Given the description of an element on the screen output the (x, y) to click on. 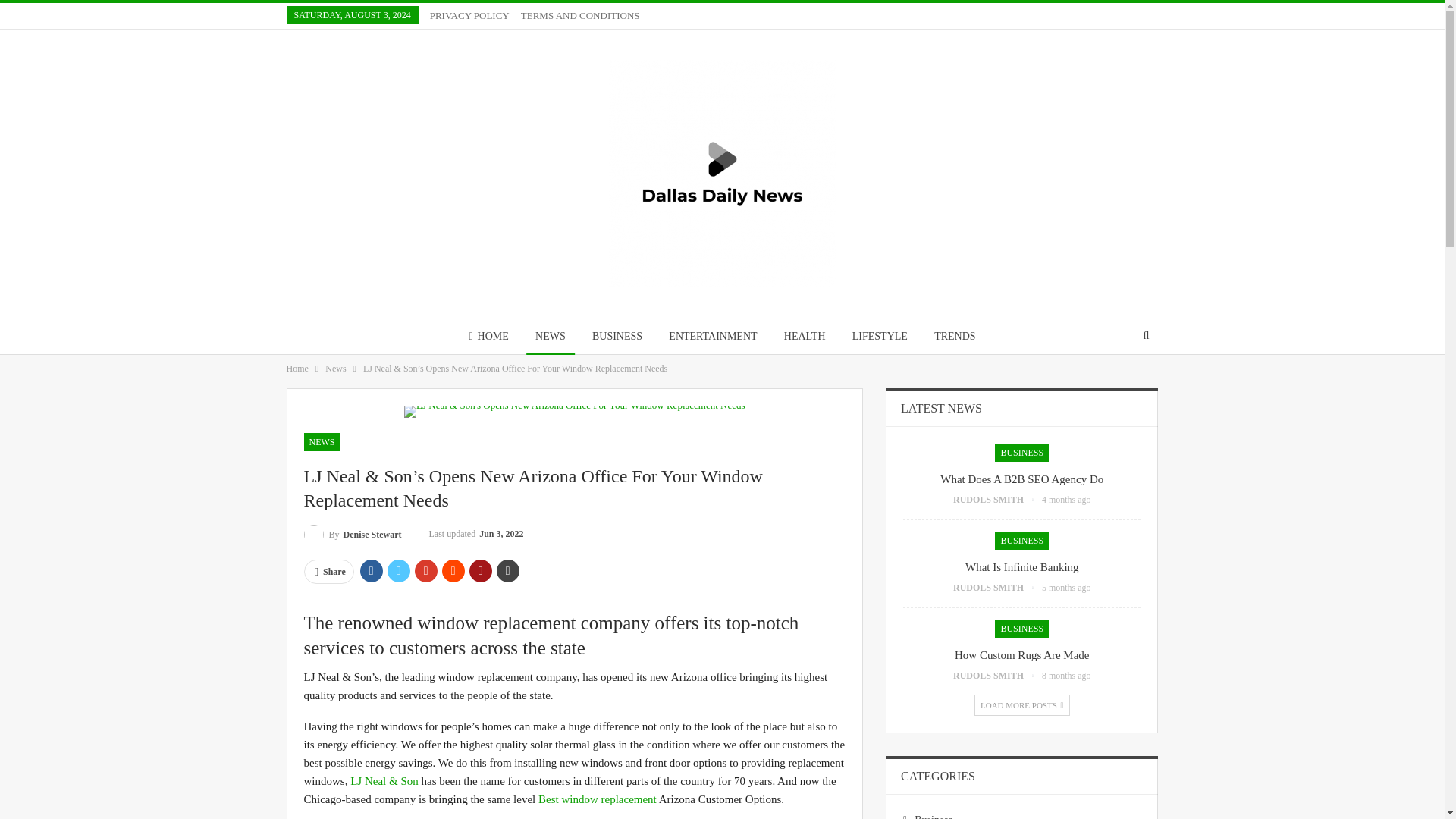
LIFESTYLE (880, 335)
TRENDS (954, 335)
TERMS AND CONDITIONS (580, 15)
Home (297, 368)
By Denise Stewart (351, 534)
NEWS (550, 335)
PRIVACY POLICY (469, 15)
Browse Author Articles (997, 499)
BUSINESS (616, 335)
ENTERTAINMENT (712, 335)
NEWS (320, 442)
Best window replacement (595, 799)
Browse Author Articles (351, 534)
News (335, 368)
HEALTH (804, 335)
